Given the description of an element on the screen output the (x, y) to click on. 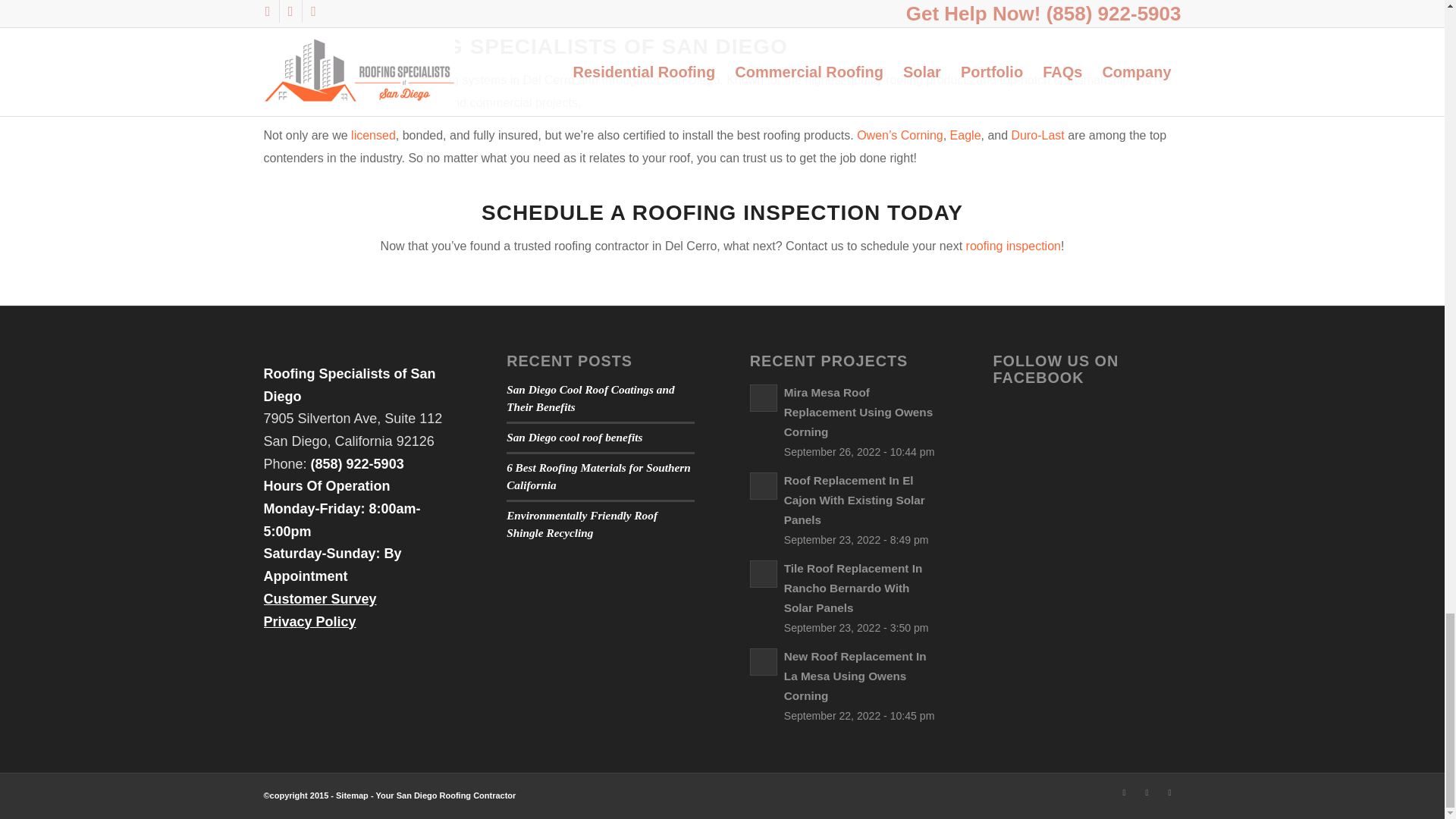
Customer Survey (320, 598)
roofing inspection (1013, 245)
licensed (373, 134)
Duro-Last (1037, 134)
Roofing Specialists of San Diego Customer Survey (320, 598)
Eagle (965, 134)
